Given the description of an element on the screen output the (x, y) to click on. 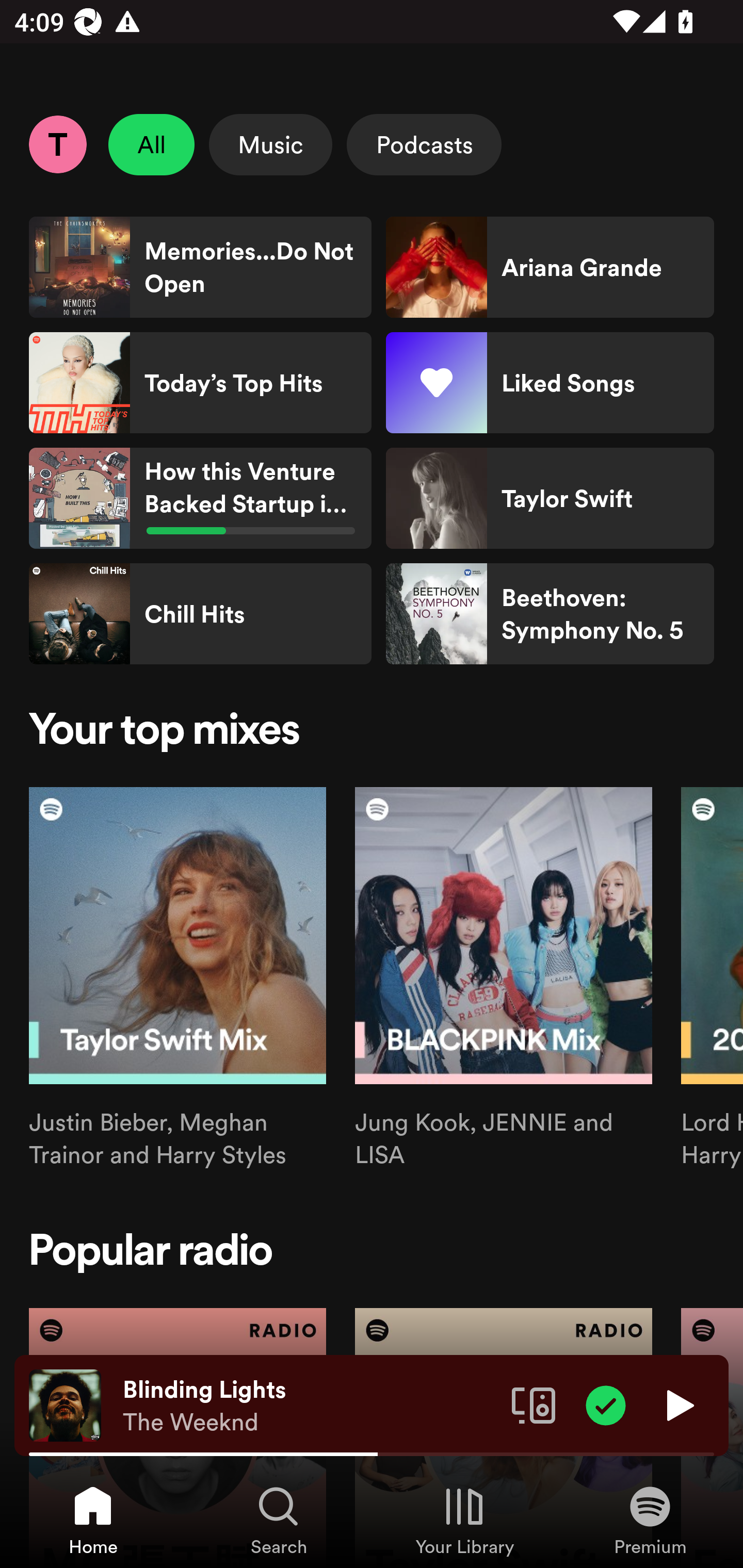
Profile (57, 144)
All Unselect All (151, 144)
Music Select Music (270, 144)
Podcasts Select Podcasts (423, 144)
Ariana Grande Shortcut Ariana Grande (549, 267)
Today’s Top Hits Shortcut Today’s Top Hits (199, 382)
Liked Songs Shortcut Liked Songs (549, 382)
Taylor Swift Shortcut Taylor Swift (549, 498)
Chill Hits Shortcut Chill Hits (199, 613)
Blinding Lights The Weeknd (309, 1405)
The cover art of the currently playing track (64, 1404)
Connect to a device. Opens the devices menu (533, 1404)
Item added (605, 1404)
Play (677, 1404)
Home, Tab 1 of 4 Home Home (92, 1519)
Search, Tab 2 of 4 Search Search (278, 1519)
Your Library, Tab 3 of 4 Your Library Your Library (464, 1519)
Premium, Tab 4 of 4 Premium Premium (650, 1519)
